Given the description of an element on the screen output the (x, y) to click on. 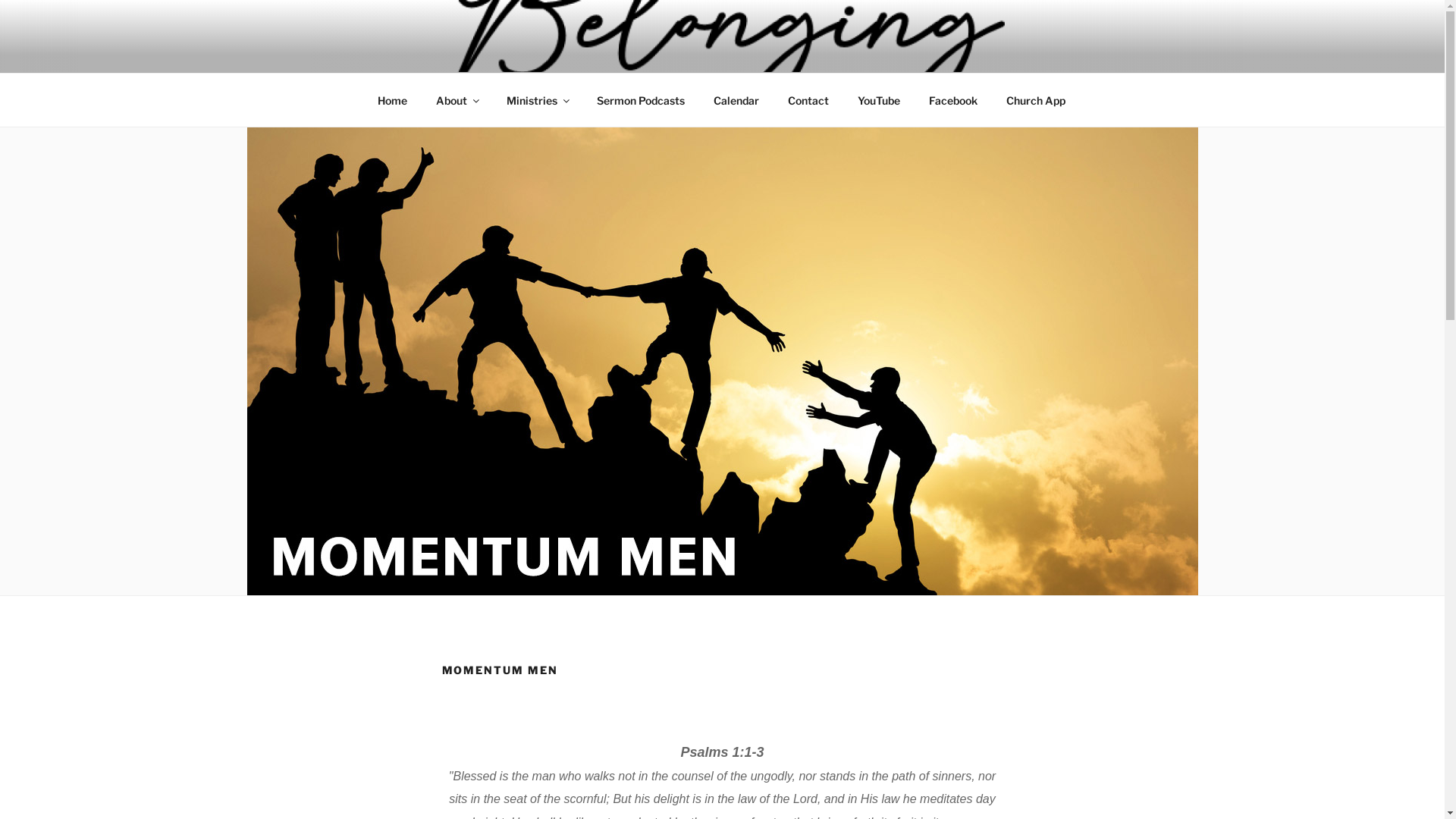
Home Element type: text (392, 100)
Calendar Element type: text (736, 100)
YouTube Element type: text (878, 100)
About Element type: text (457, 100)
Church App Element type: text (1036, 100)
Ministries Element type: text (536, 100)
Facebook Element type: text (953, 100)
Sermon Podcasts Element type: text (640, 100)
MOMENTUM CHURCH Element type: text (547, 52)
Contact Element type: text (808, 100)
